Given the description of an element on the screen output the (x, y) to click on. 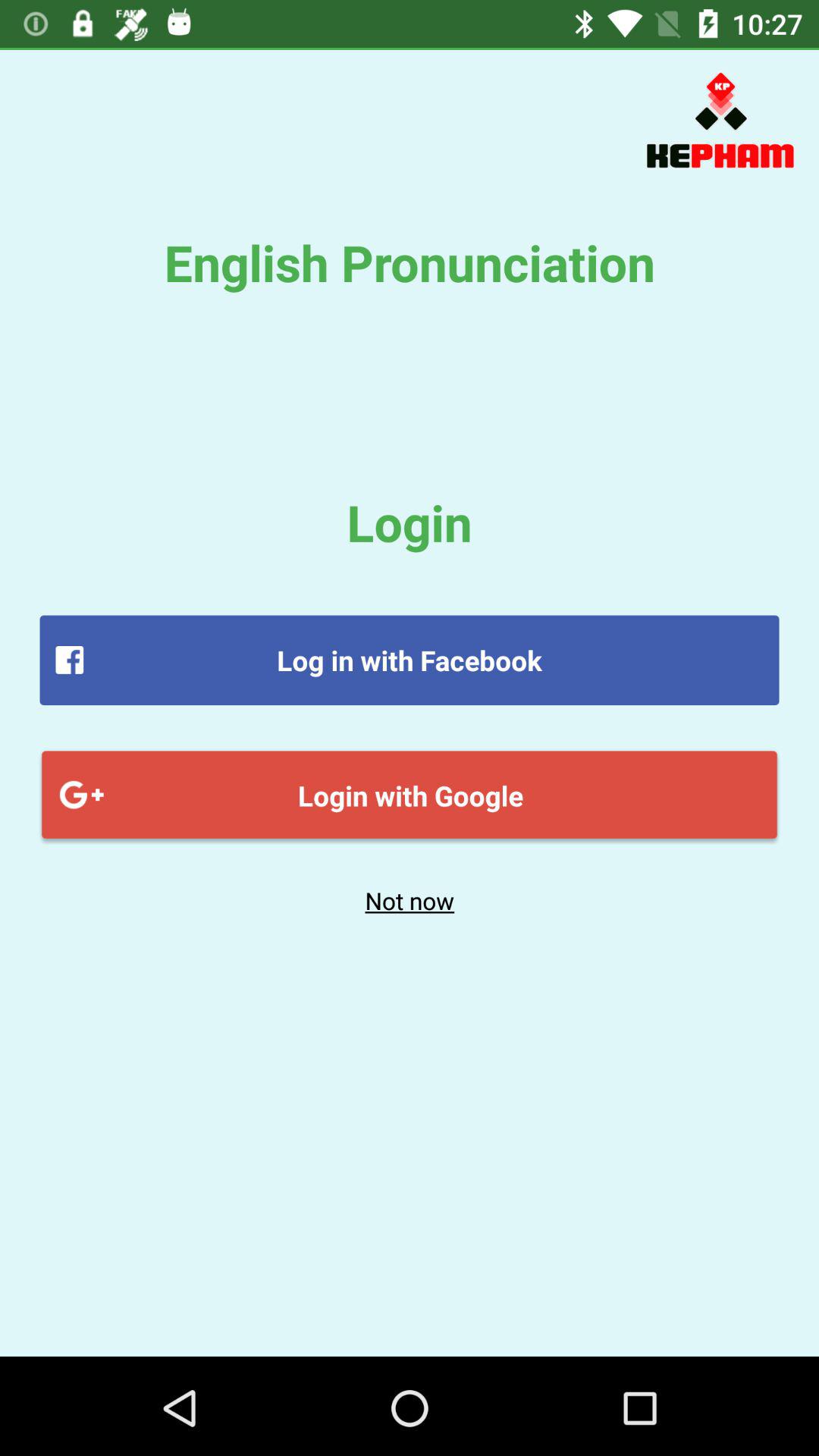
swipe to the log in with (409, 660)
